Given the description of an element on the screen output the (x, y) to click on. 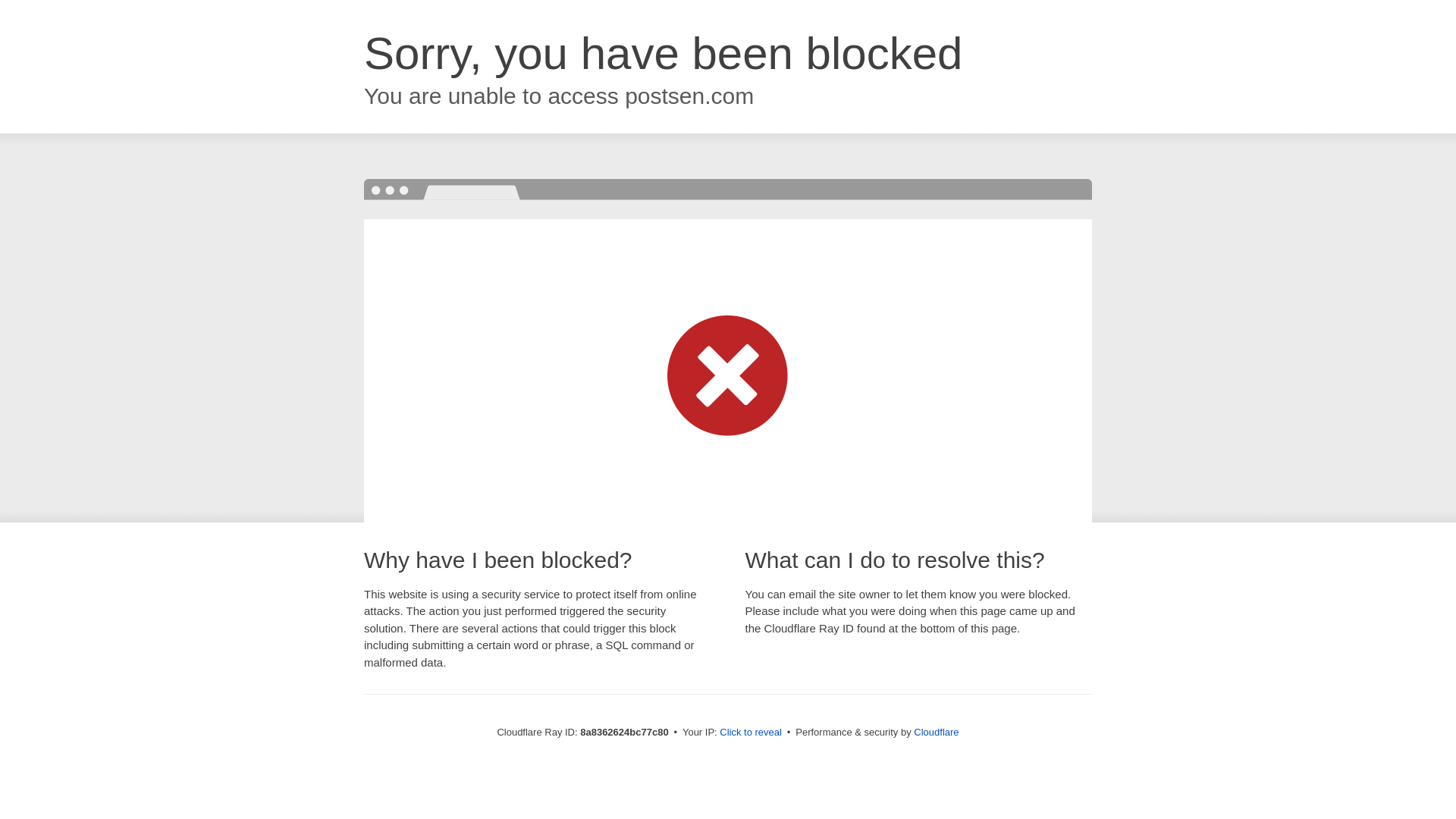
Click to reveal (750, 732)
Cloudflare (936, 731)
